Given the description of an element on the screen output the (x, y) to click on. 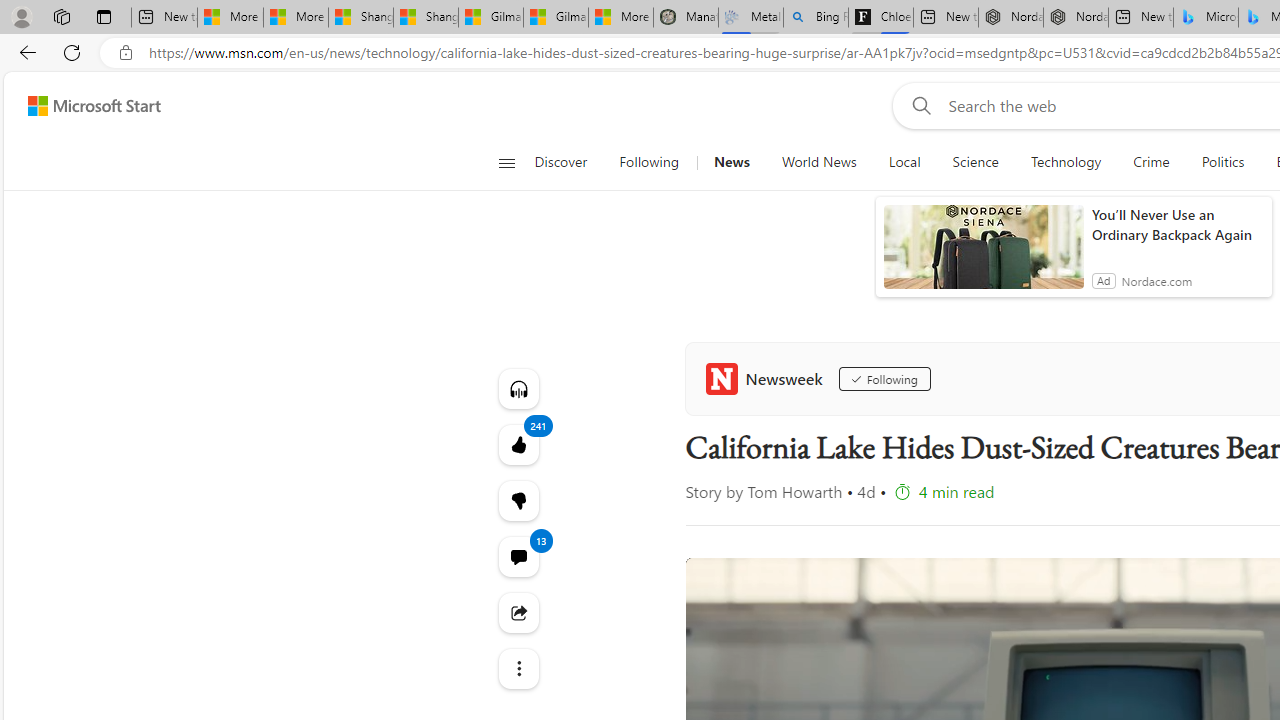
Politics (1222, 162)
Local (903, 162)
Chloe Sorvino (880, 17)
Technology (1065, 162)
Science (975, 162)
Crime (1150, 162)
View comments 13 Comment (517, 556)
